Given the description of an element on the screen output the (x, y) to click on. 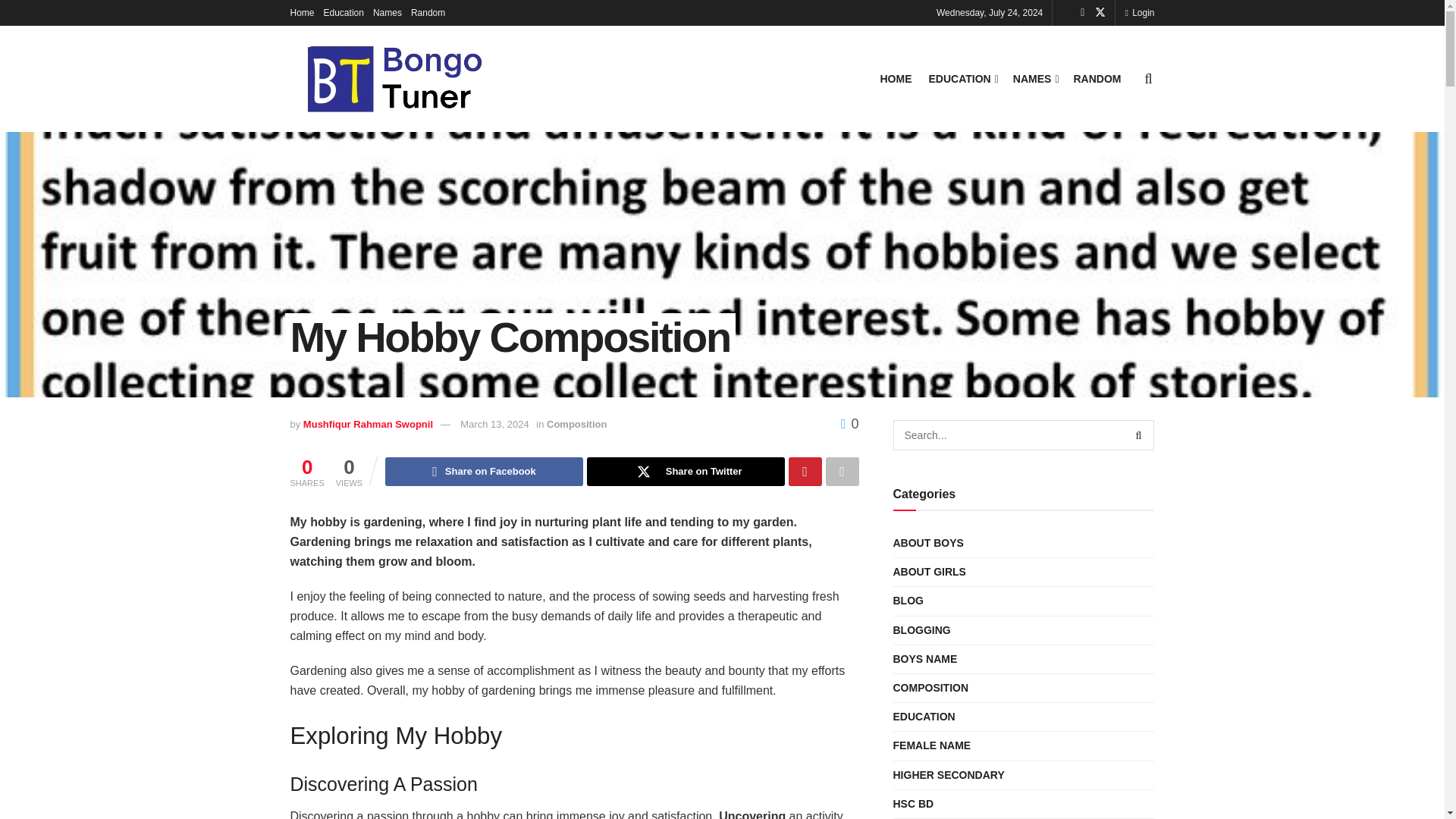
HOME (895, 78)
EDUCATION (961, 78)
Random (427, 12)
Names (386, 12)
Home (301, 12)
NAMES (1035, 78)
Education (343, 12)
RANDOM (1097, 78)
Login (1139, 12)
